Given the description of an element on the screen output the (x, y) to click on. 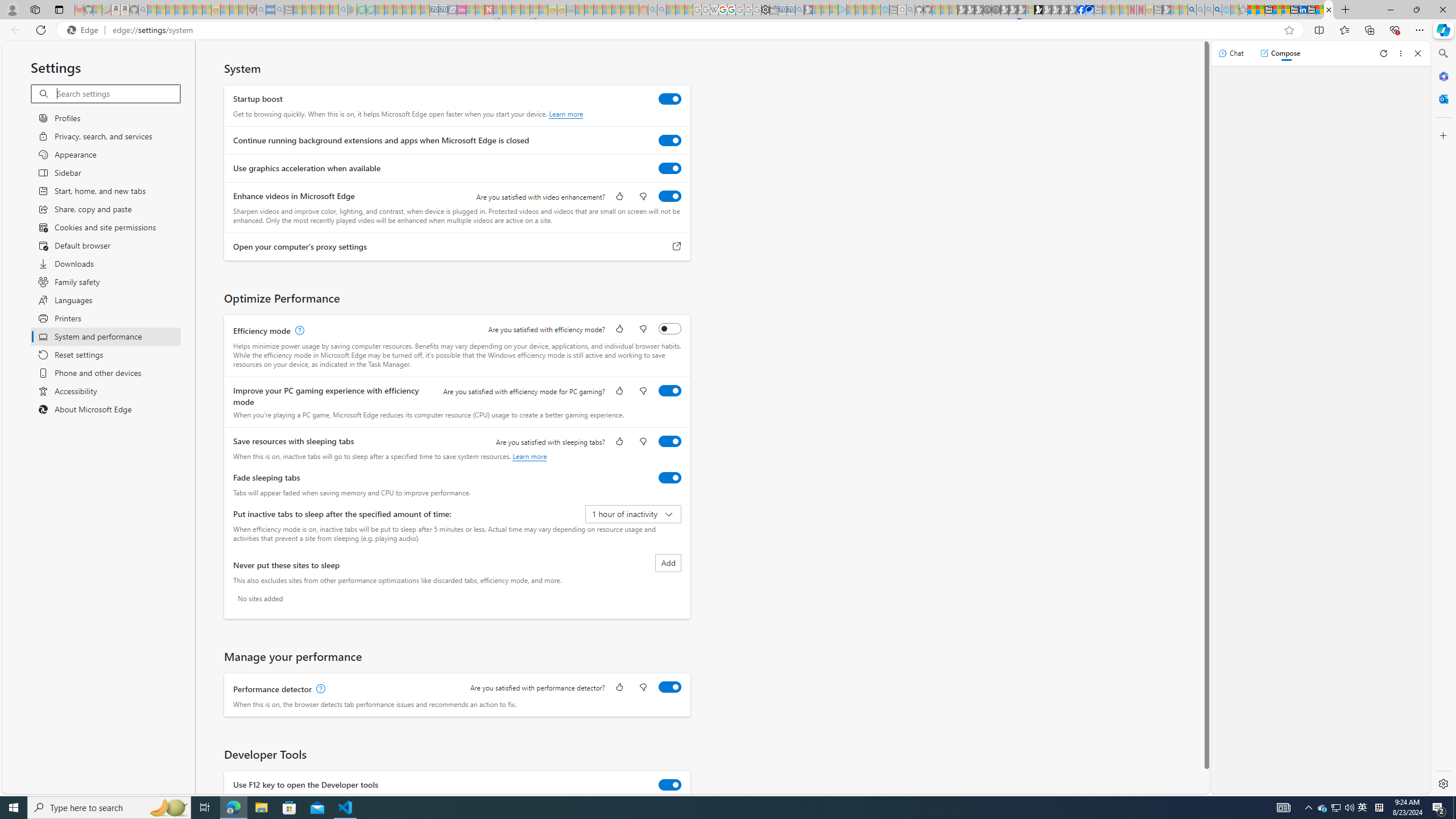
Latest Politics News & Archive | Newsweek.com - Sleeping (488, 9)
LinkedIn (1302, 9)
Efficiency mode (669, 328)
Performance detector, learn more (319, 688)
Fade sleeping tabs (669, 477)
